Given the description of an element on the screen output the (x, y) to click on. 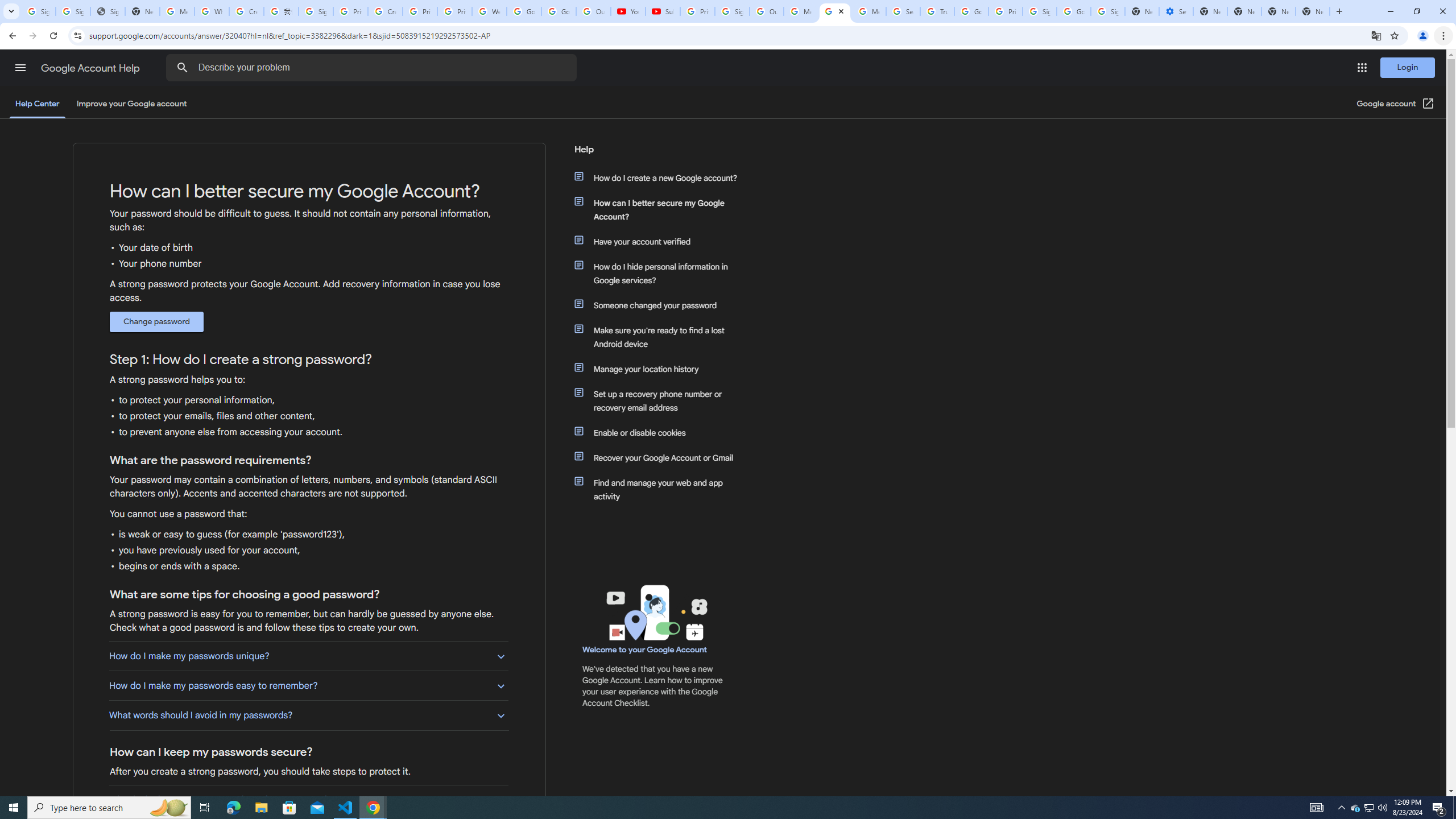
Login (1407, 67)
Make sure you're ready to find a lost Android device (661, 336)
Subscriptions - YouTube (662, 11)
Google Account (557, 11)
Sign in - Google Accounts (1107, 11)
Google Account Help (91, 68)
Google Ads - Sign in (970, 11)
Create your Google Account (246, 11)
Have your account verified (661, 241)
